Given the description of an element on the screen output the (x, y) to click on. 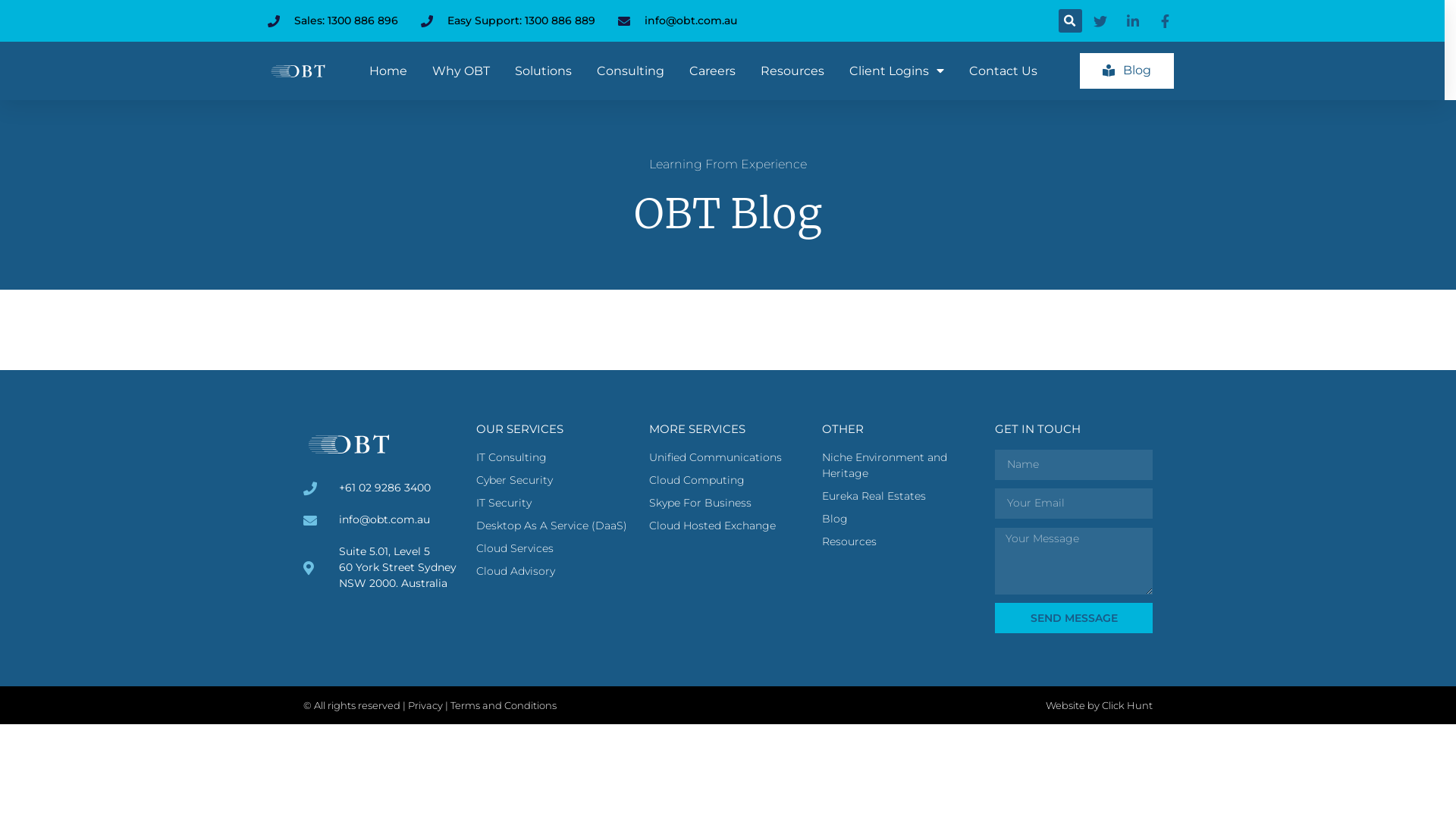
Home Element type: text (388, 70)
Cloud Advisory Element type: text (554, 571)
Solutions Element type: text (542, 70)
Resources Element type: text (792, 70)
Cyber Security Element type: text (554, 480)
Cloud Computing Element type: text (727, 480)
Terms and Conditions Element type: text (503, 705)
Privacy Element type: text (426, 705)
Blog Element type: text (900, 519)
Consulting Element type: text (630, 70)
Website by Click Hunt Element type: text (1098, 705)
IT Security Element type: text (554, 503)
Resources Element type: text (900, 541)
Cloud Hosted Exchange Element type: text (727, 525)
Client Logins Element type: text (896, 70)
Blog Element type: text (1126, 70)
Desktop As A Service (DaaS) Element type: text (554, 525)
Cloud Services Element type: text (554, 548)
Unified Communications Element type: text (727, 457)
Easy Support: 1300 886 889 Element type: text (507, 20)
Skype For Business Element type: text (727, 503)
IT Consulting Element type: text (554, 457)
Contact Us Element type: text (1003, 70)
Careers Element type: text (712, 70)
Sales: 1300 886 896 Element type: text (331, 20)
SEND MESSAGE Element type: text (1073, 617)
info@obt.com.au Element type: text (676, 20)
Why OBT Element type: text (460, 70)
